Given the description of an element on the screen output the (x, y) to click on. 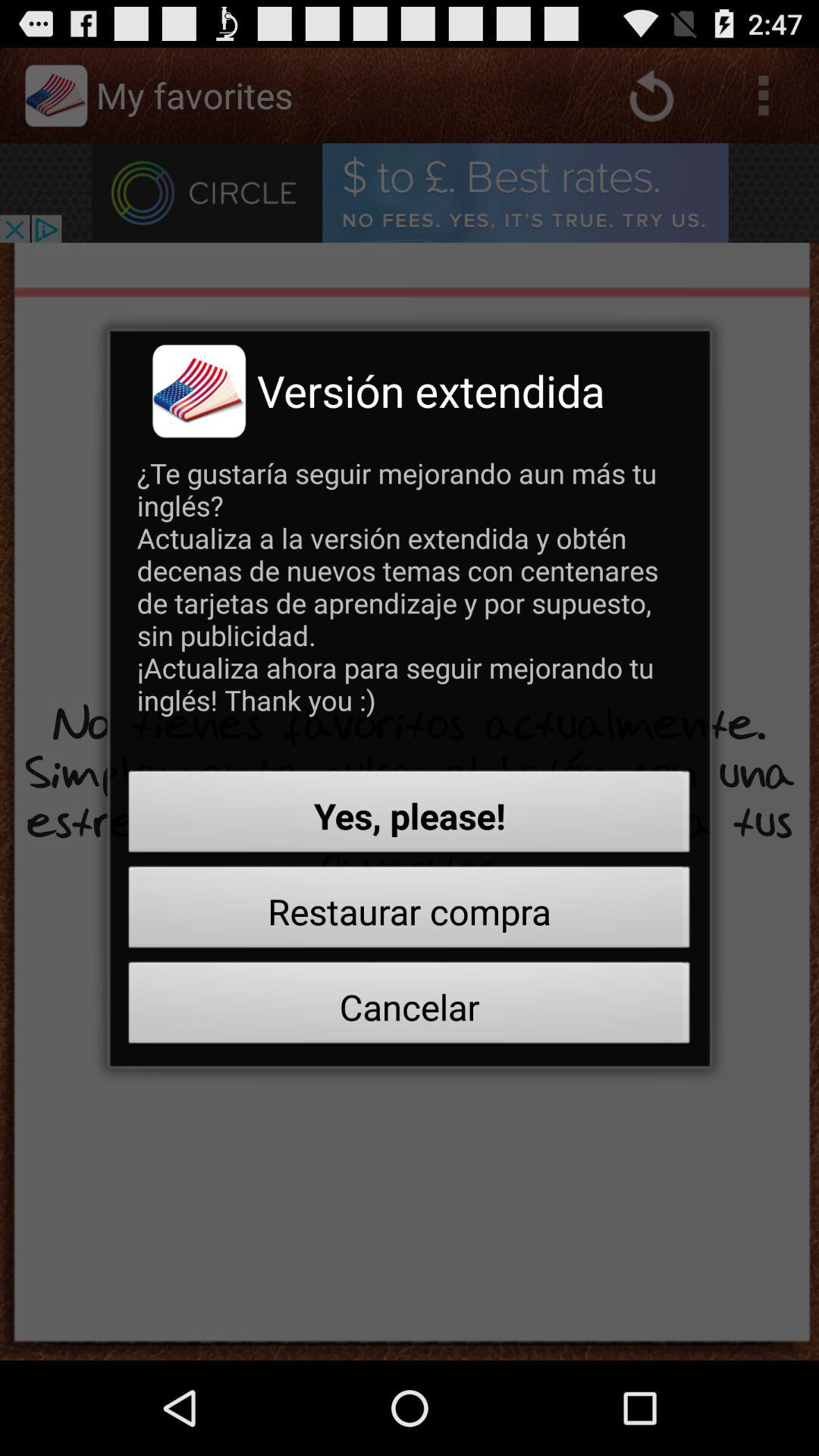
choose cancelar at the bottom (409, 1007)
